Given the description of an element on the screen output the (x, y) to click on. 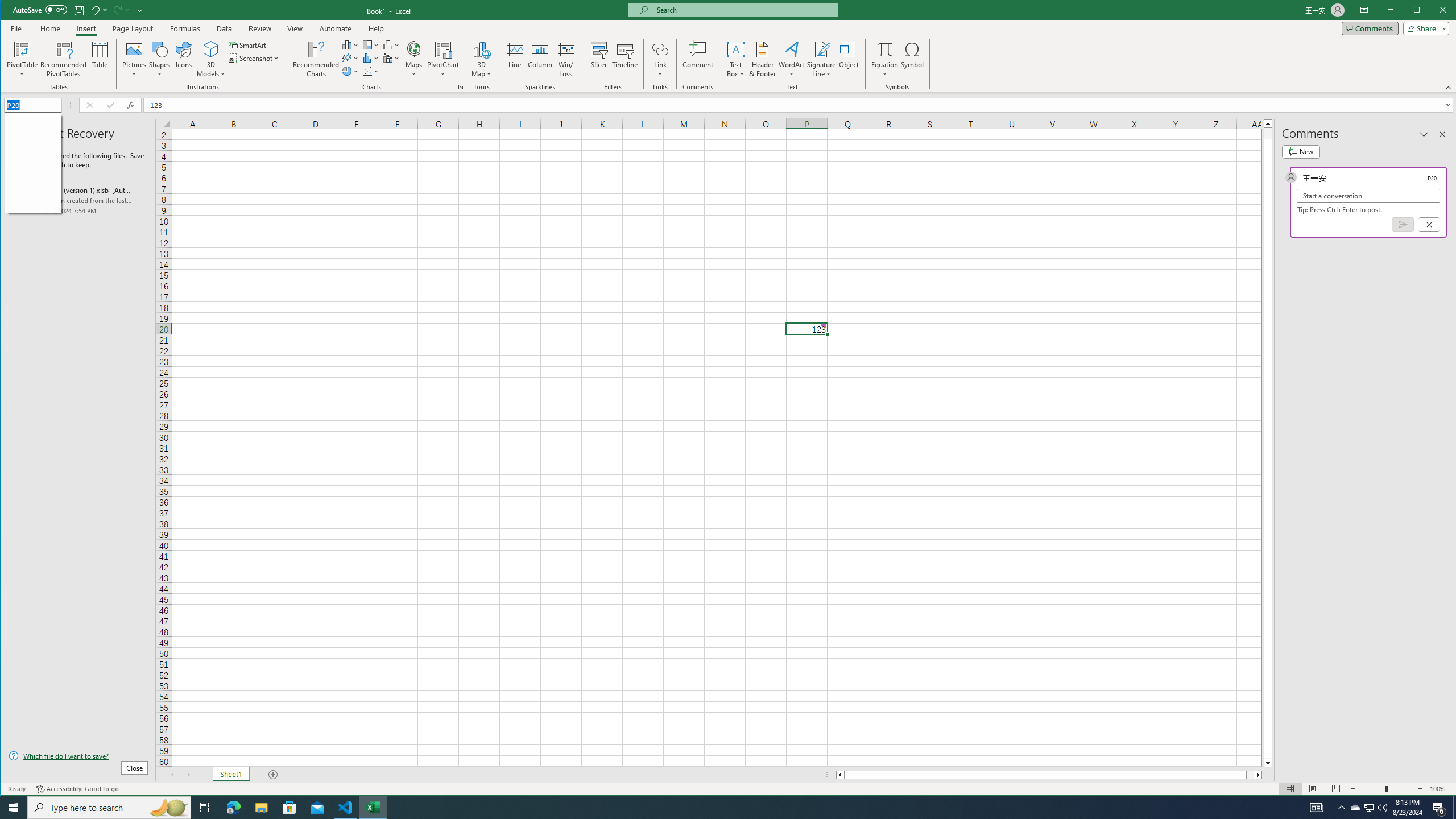
Start a conversation (1368, 195)
PivotTable (22, 59)
Start (13, 807)
Search highlights icon opens search home window (167, 807)
Show desktop (1454, 807)
File Explorer (261, 807)
Insert Line or Area Chart (350, 57)
Cancel (1428, 224)
PivotChart (443, 59)
